Given the description of an element on the screen output the (x, y) to click on. 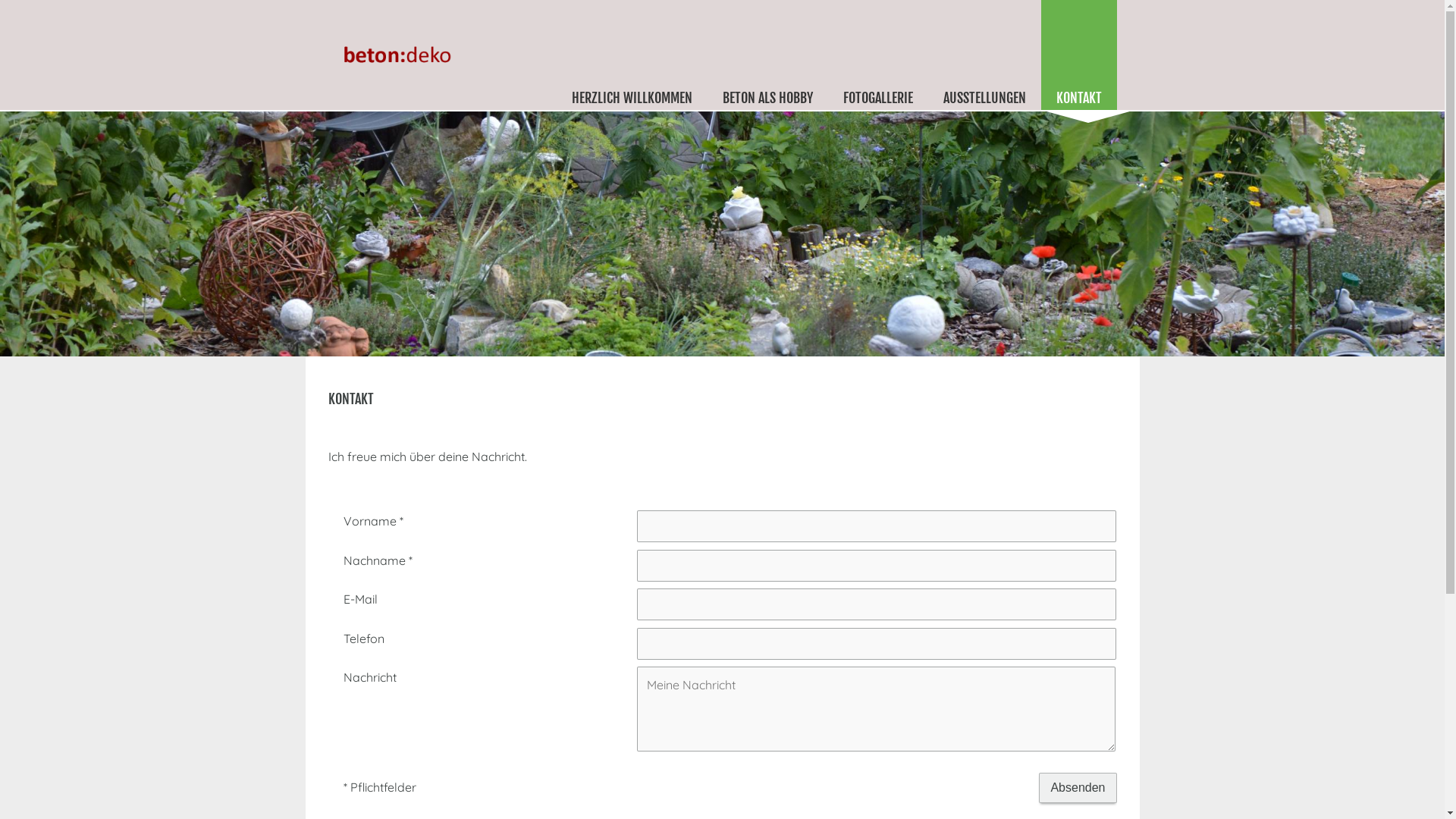
Absenden Element type: text (1077, 787)
BETON ALS HOBBY Element type: text (766, 54)
AUSSTELLUNGEN Element type: text (984, 54)
FOTOGALLERIE Element type: text (878, 54)
KONTAKT Element type: text (1078, 54)
HERZLICH WILLKOMMEN Element type: text (631, 54)
